Given the description of an element on the screen output the (x, y) to click on. 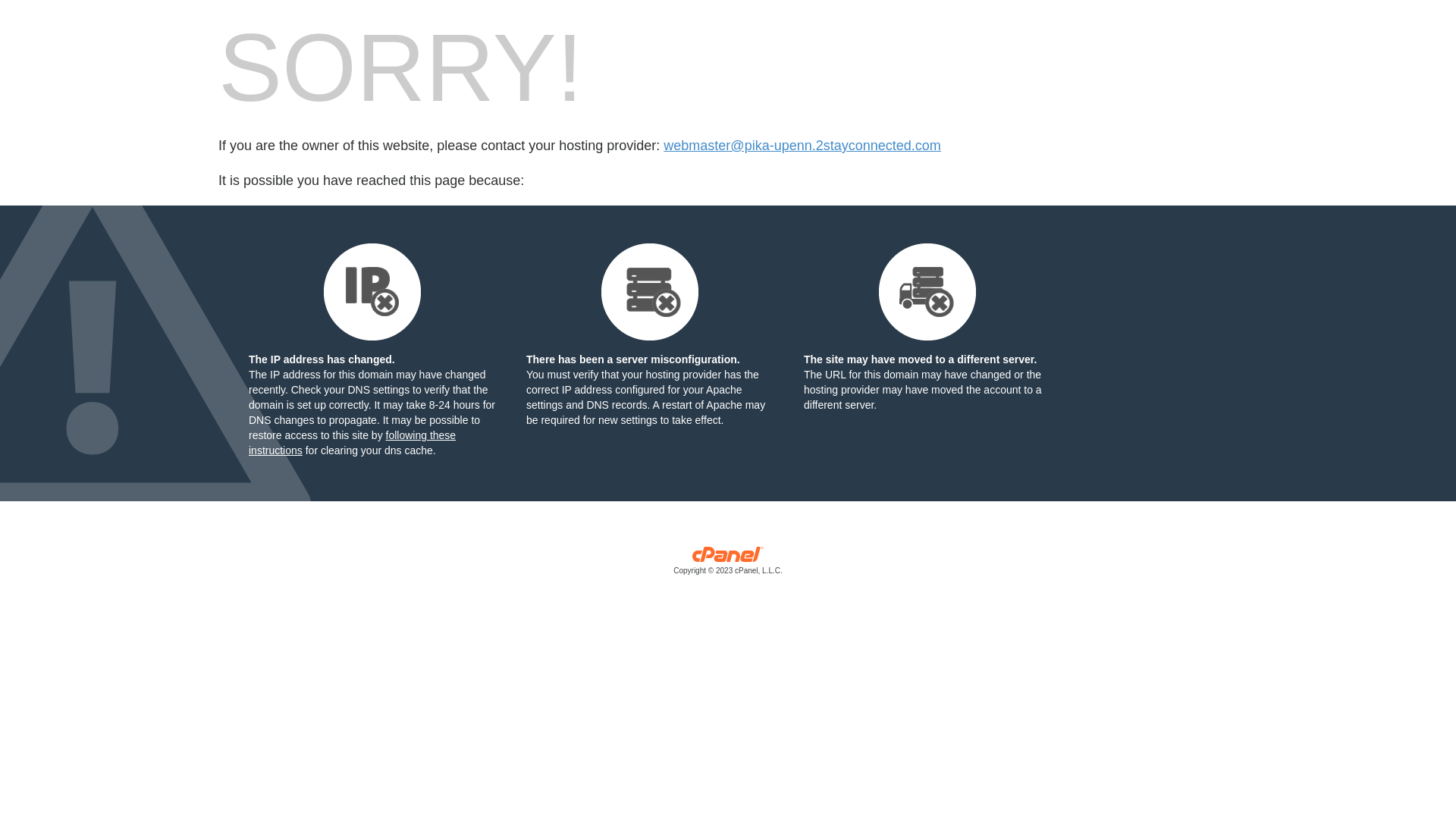
webmaster@pika-upenn.2stayconnected.com Element type: text (801, 145)
following these instructions Element type: text (351, 442)
